Given the description of an element on the screen output the (x, y) to click on. 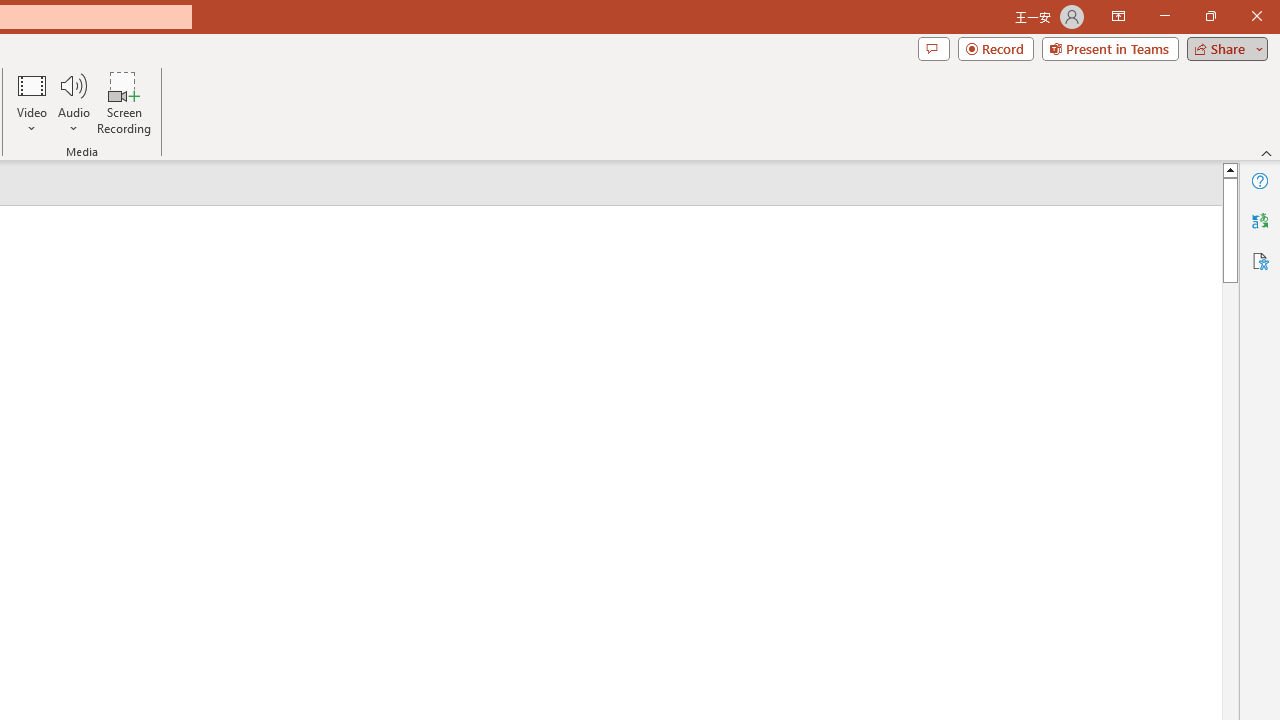
Accessibility (1260, 260)
Line up (1230, 169)
Video (31, 102)
Audio (73, 102)
Translator (1260, 220)
Restore Down (1210, 16)
